Given the description of an element on the screen output the (x, y) to click on. 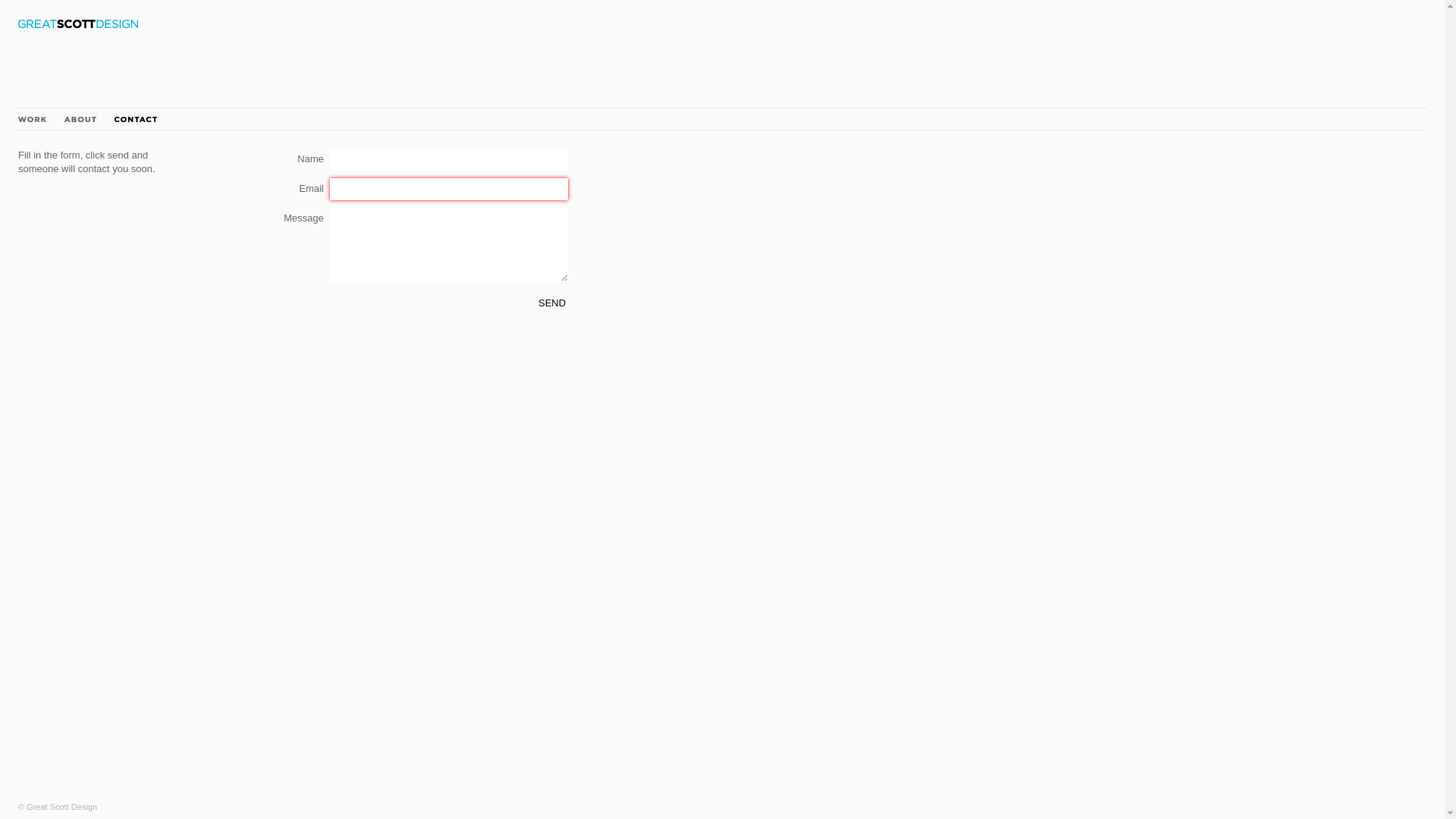
CONTACT Element type: text (135, 119)
Great Scott Design  Element type: hover (78, 23)
Send Element type: text (552, 302)
WORK Element type: text (32, 119)
ABOUT Element type: text (80, 119)
